Given the description of an element on the screen output the (x, y) to click on. 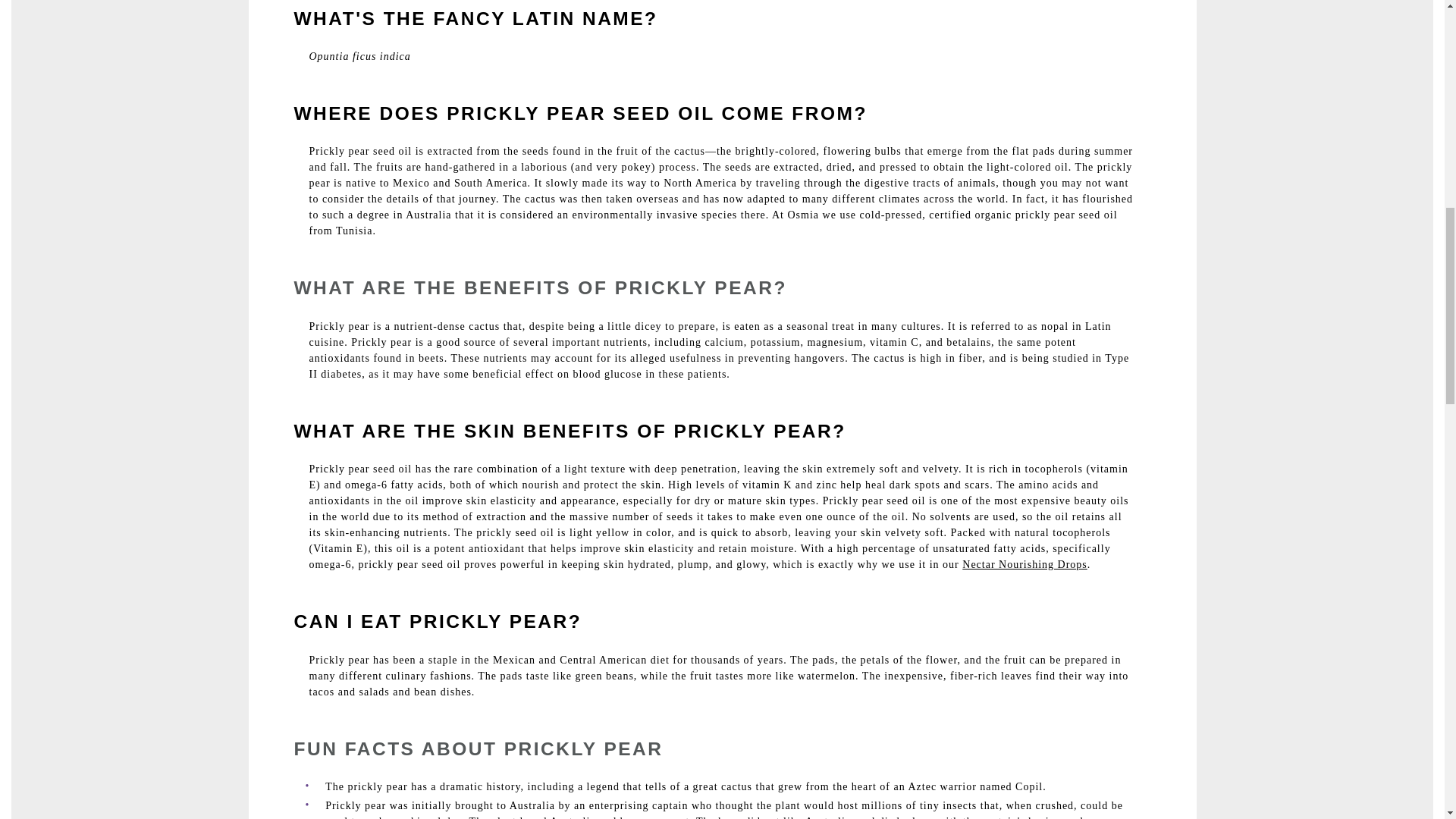
Osmia's Nectar serum with prickly pear seed oil (1024, 564)
